Given the description of an element on the screen output the (x, y) to click on. 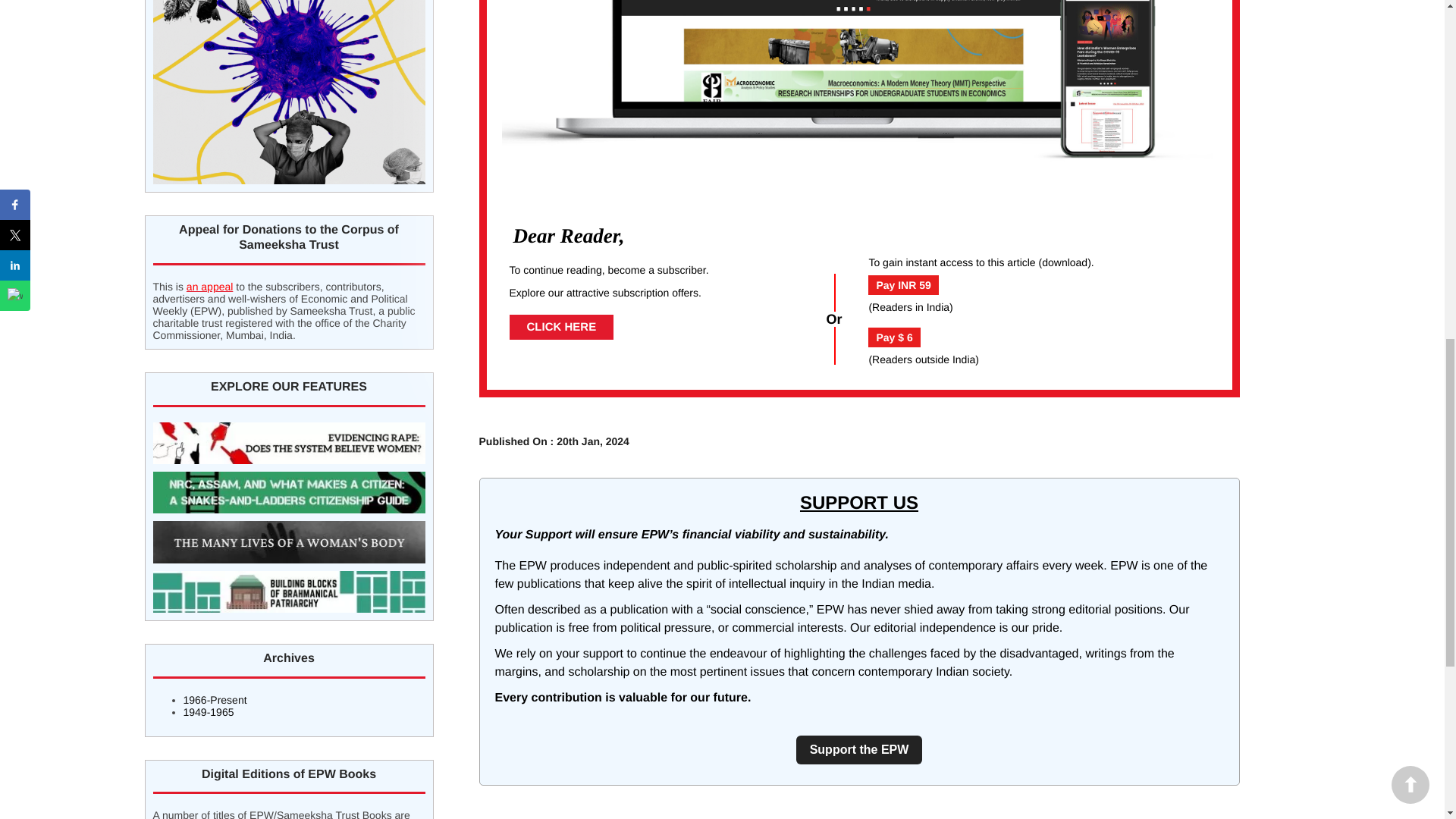
Support the EPW (859, 749)
